Given the description of an element on the screen output the (x, y) to click on. 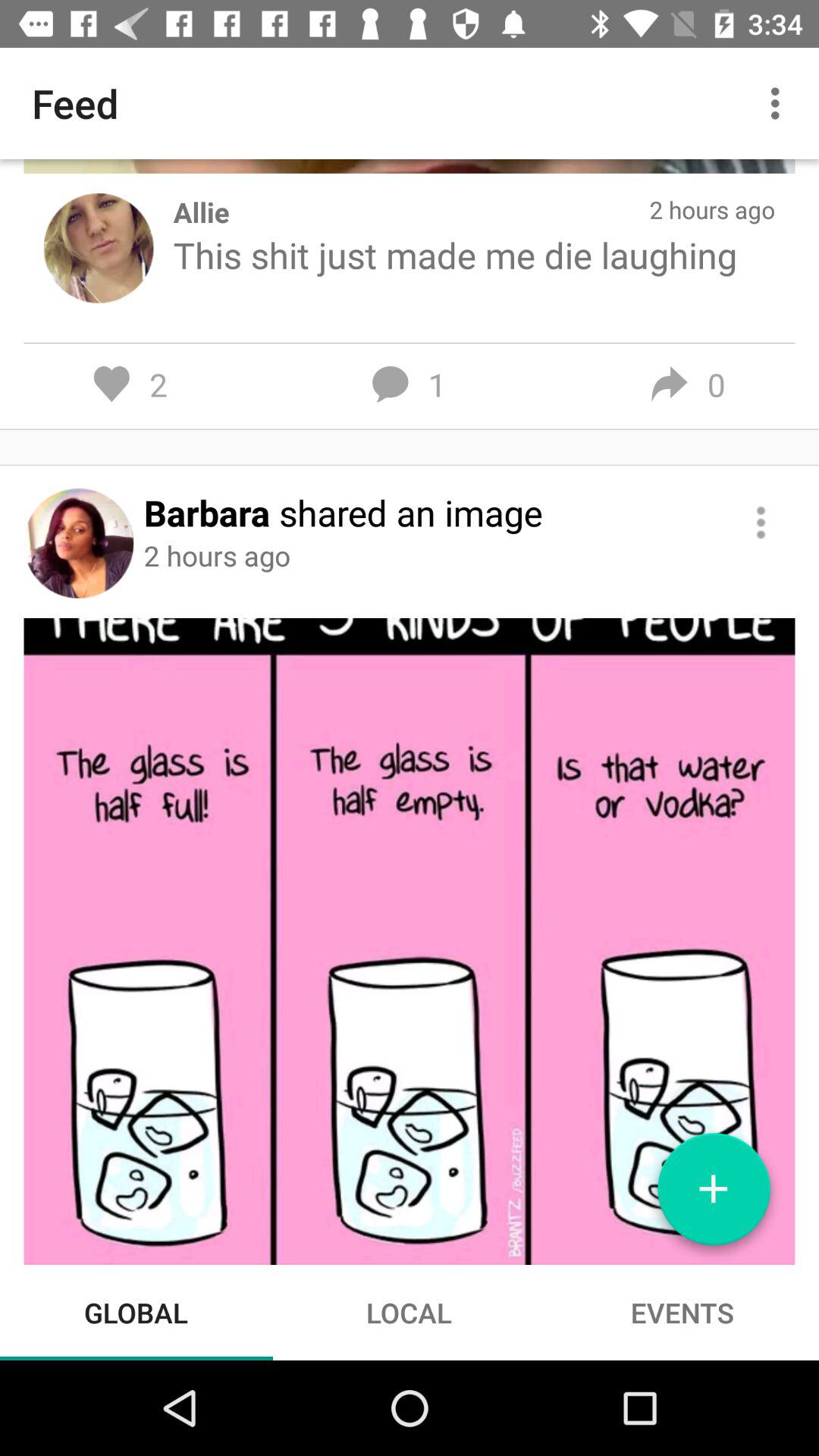
turn off item on the right (760, 522)
